Given the description of an element on the screen output the (x, y) to click on. 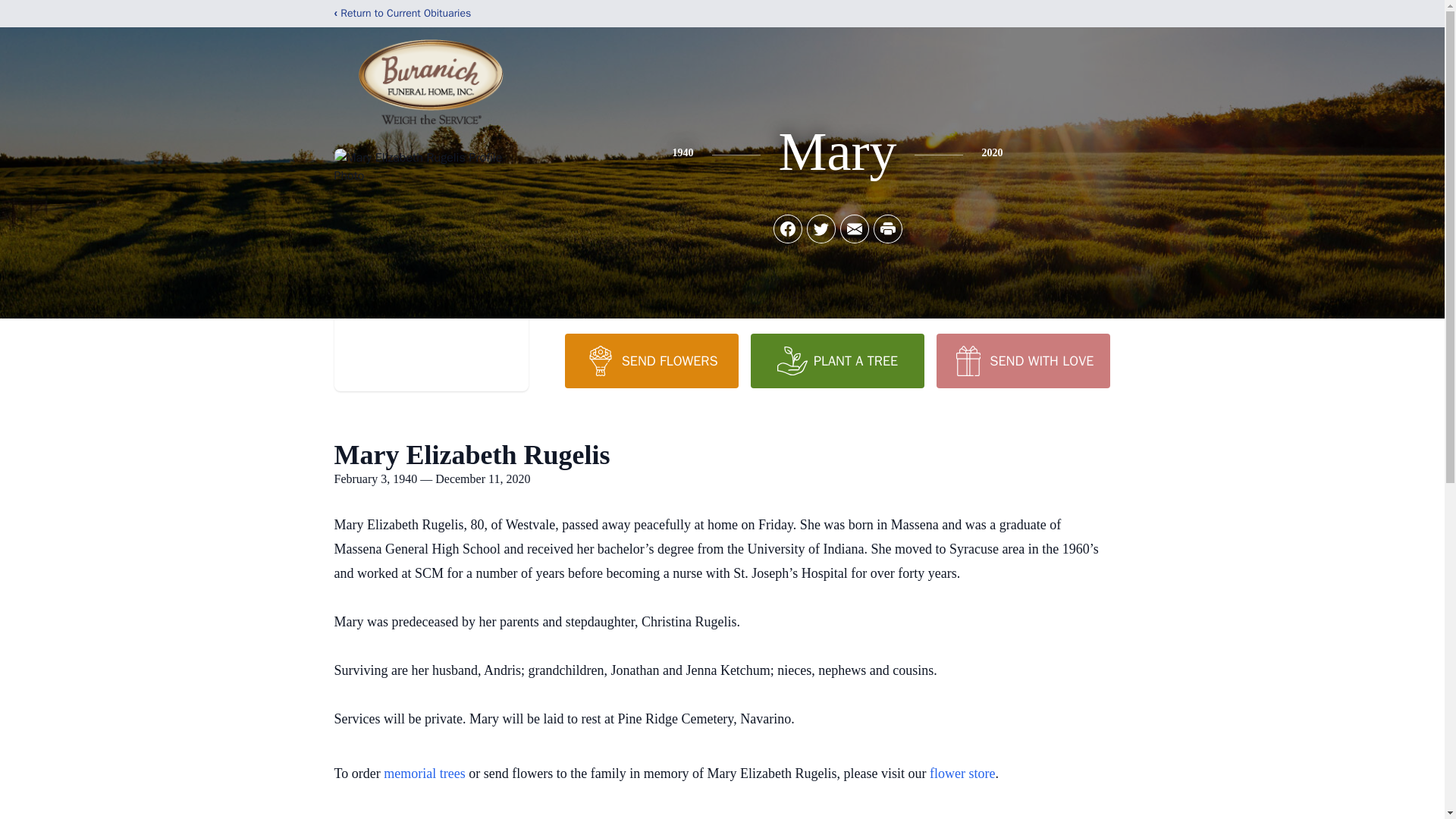
PLANT A TREE (837, 360)
SEND FLOWERS (651, 360)
SEND WITH LOVE (1022, 360)
memorial trees (424, 773)
flower store (962, 773)
